Given the description of an element on the screen output the (x, y) to click on. 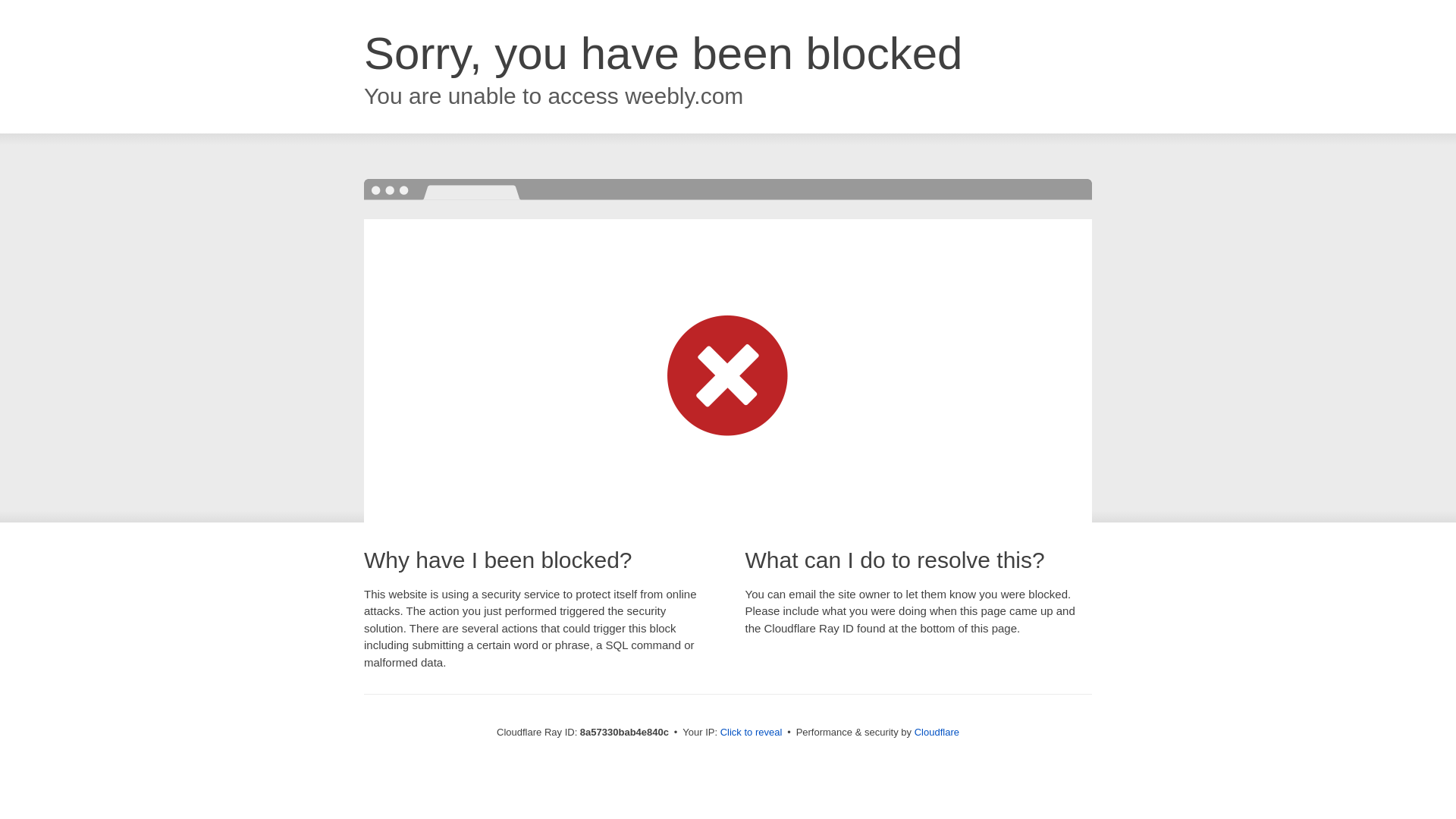
Click to reveal (751, 732)
Cloudflare (936, 731)
